Given the description of an element on the screen output the (x, y) to click on. 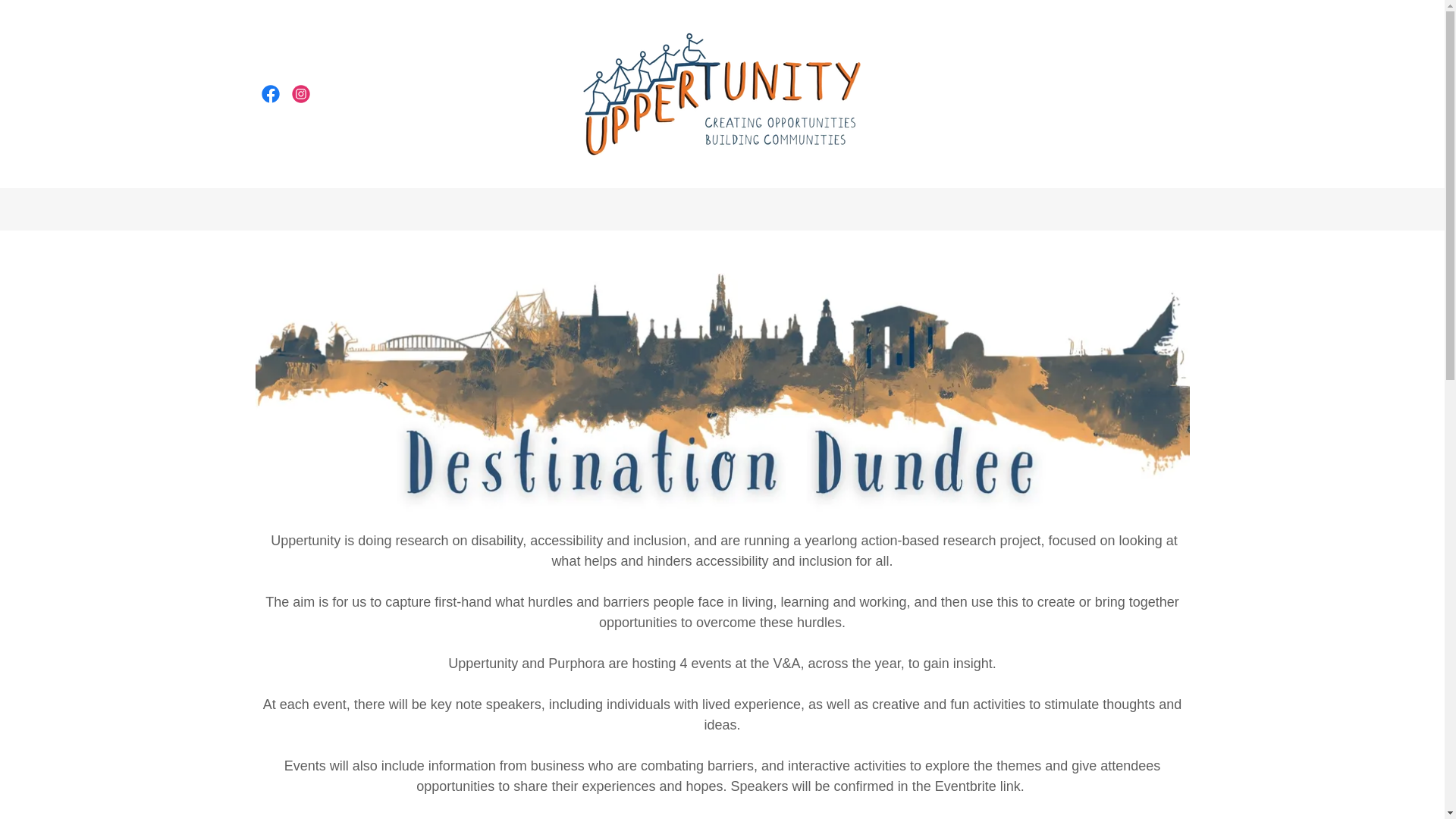
Uppertunity (721, 92)
